Given the description of an element on the screen output the (x, y) to click on. 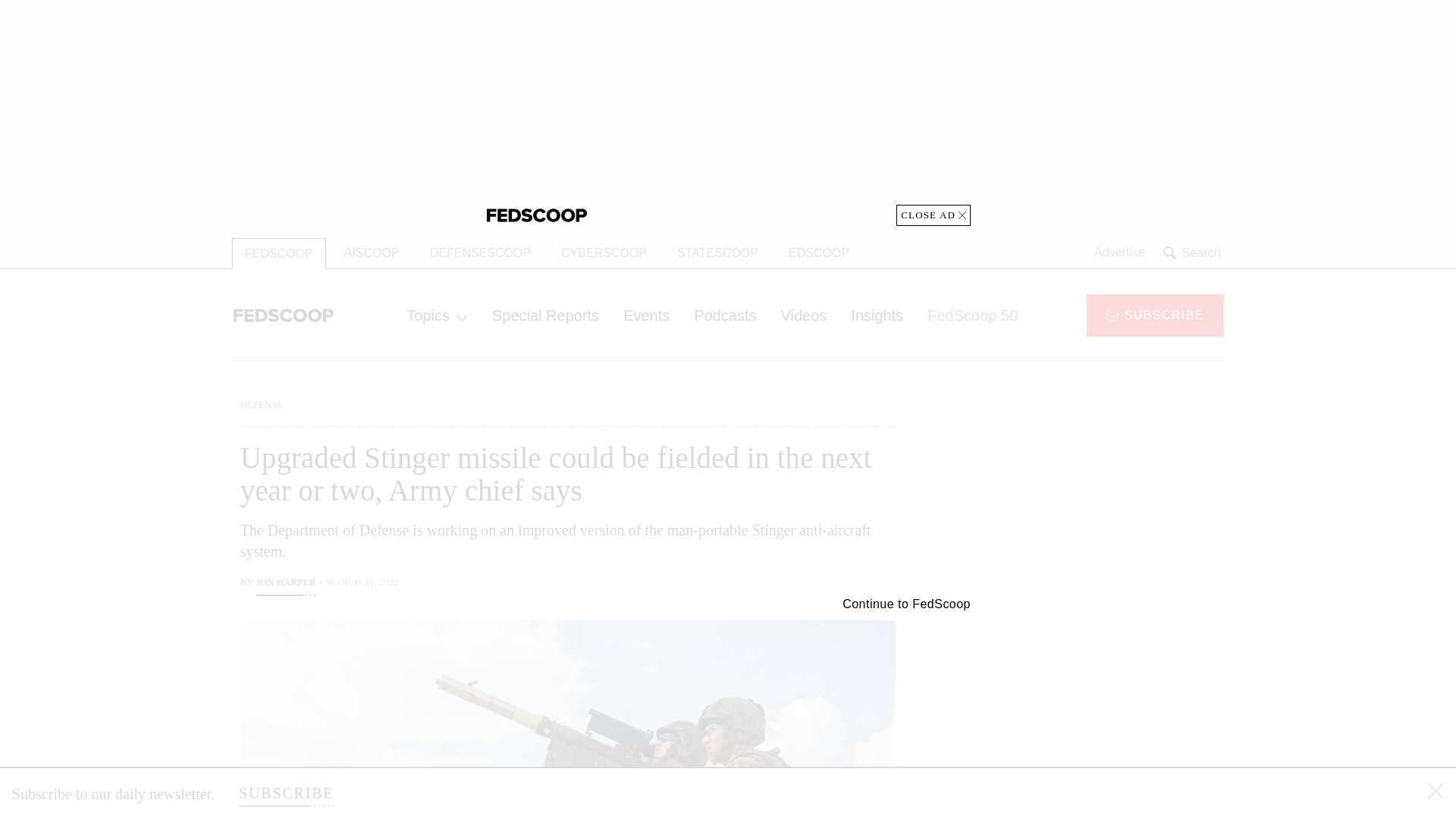
Podcasts (724, 315)
CYBERSCOOP (603, 253)
EDSCOOP (818, 253)
DEFENSE (261, 404)
SUBSCRIBE (1155, 314)
Insights (876, 315)
3rd party ad content (727, 112)
Jon Harper (285, 583)
SUBSCRIBE (285, 793)
